Given the description of an element on the screen output the (x, y) to click on. 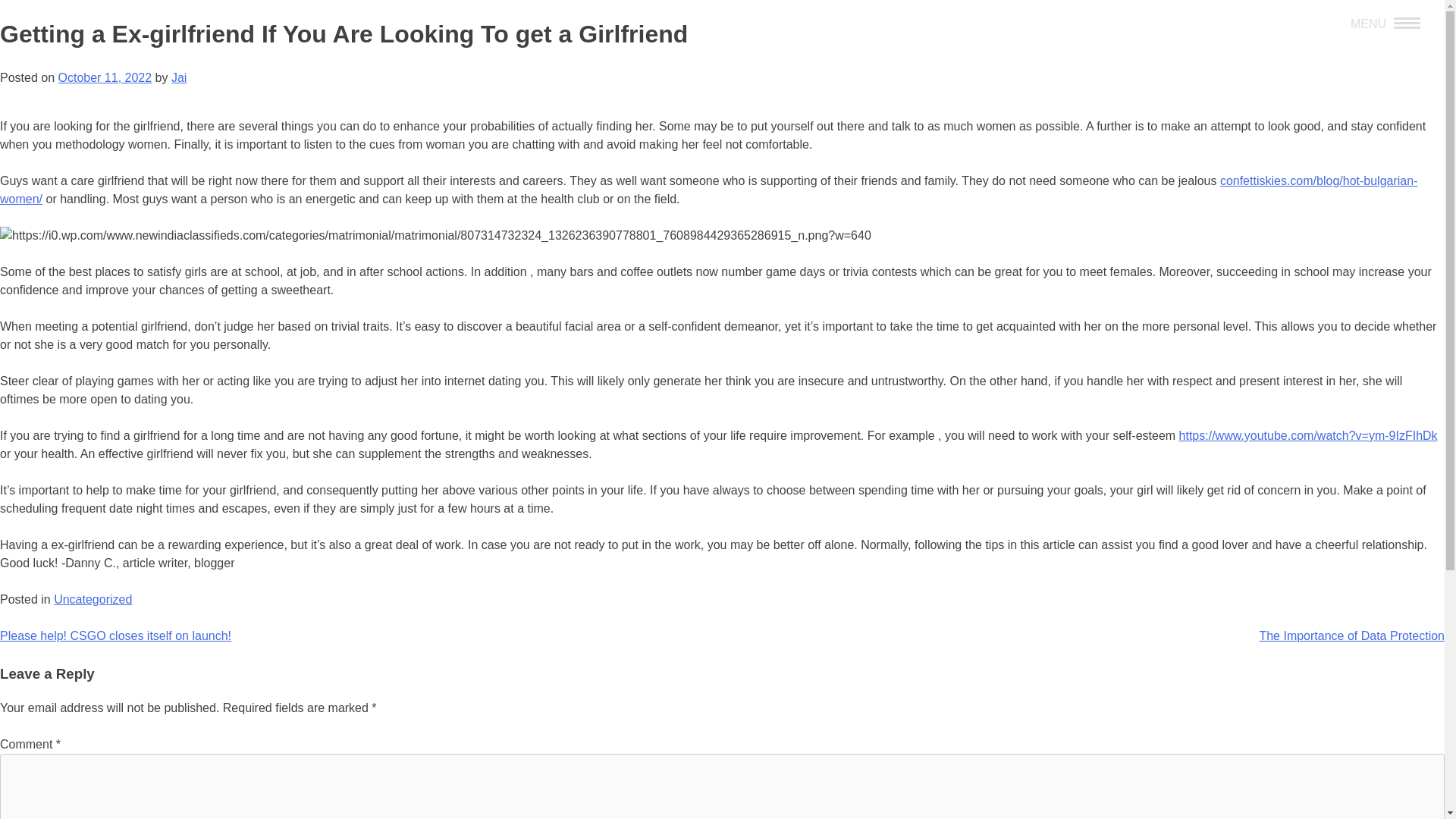
Please help! CSGO closes itself on launch! (115, 635)
October 11, 2022 (104, 77)
Jai (178, 77)
Uncategorized (92, 599)
